Given the description of an element on the screen output the (x, y) to click on. 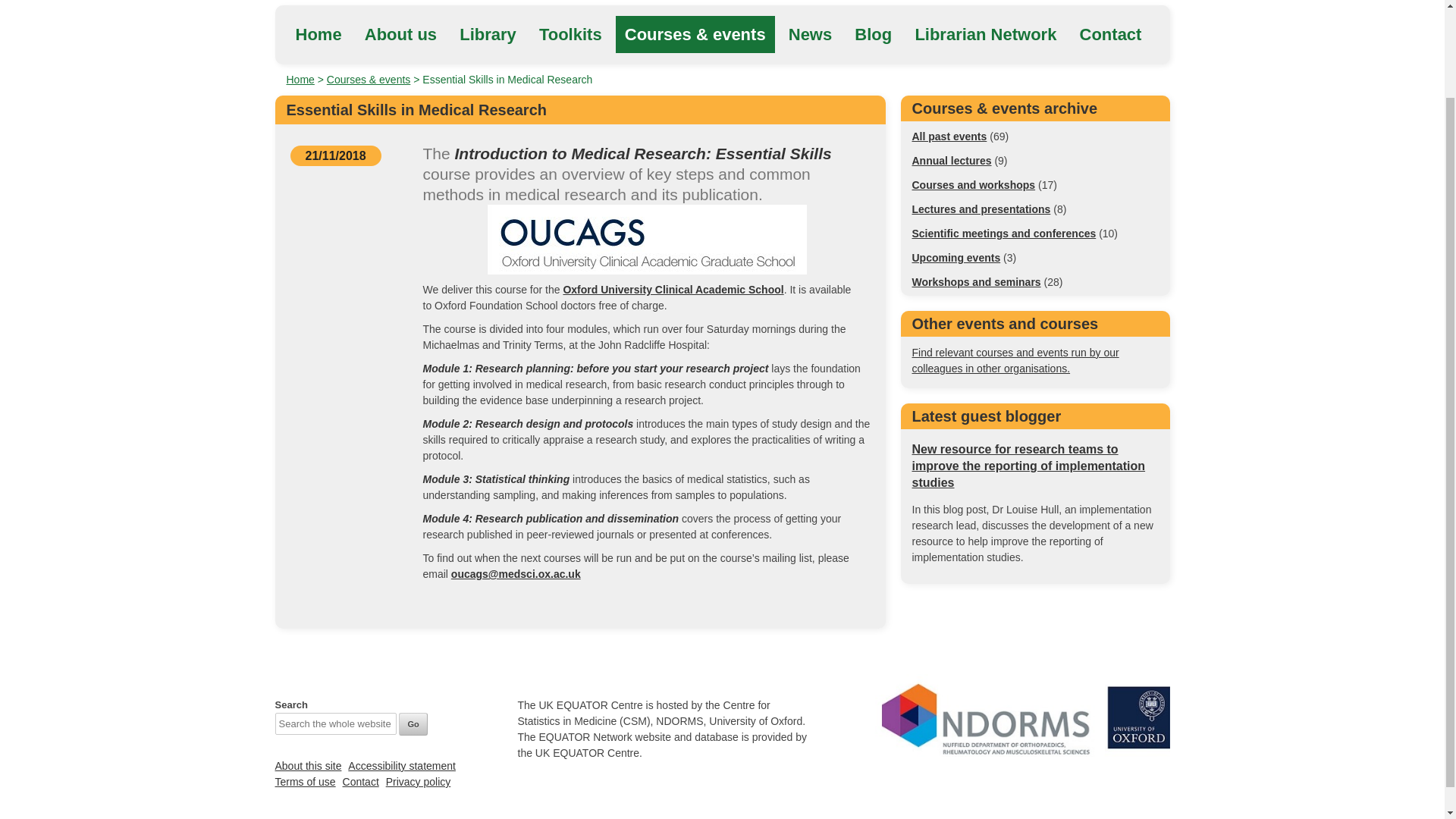
Accessibility statement (401, 766)
Go (412, 723)
Toolkits (570, 34)
Upcoming events (955, 257)
Courses and workshops (973, 184)
Contact (1110, 34)
Oxford University Clinical Academic School (672, 289)
About us (400, 34)
Terms of use (304, 781)
Go (412, 723)
News (809, 34)
Blog (873, 34)
About this site (307, 766)
Lectures and presentations (980, 209)
